Given the description of an element on the screen output the (x, y) to click on. 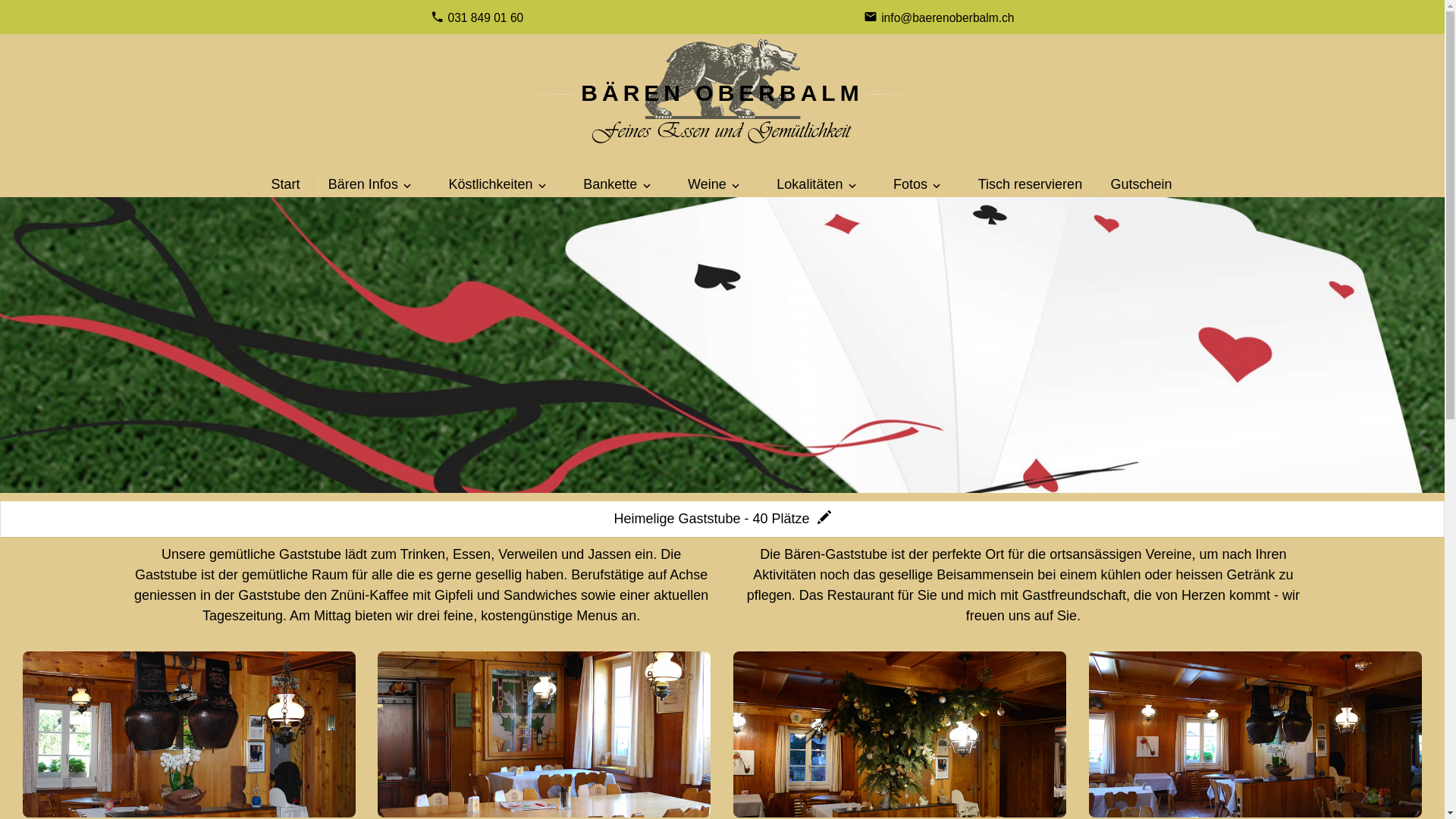
Start Element type: text (282, 184)
031 849 01 60 Element type: text (485, 17)
Weine Element type: text (705, 184)
Fotos Element type: text (908, 184)
Bankette Element type: text (608, 184)
info@baerenoberbalm.ch Element type: text (947, 17)
Tisch reservieren Element type: text (1028, 184)
Gutschein Element type: text (1138, 184)
jassen.gaststube Element type: hover (722, 344)
